Given the description of an element on the screen output the (x, y) to click on. 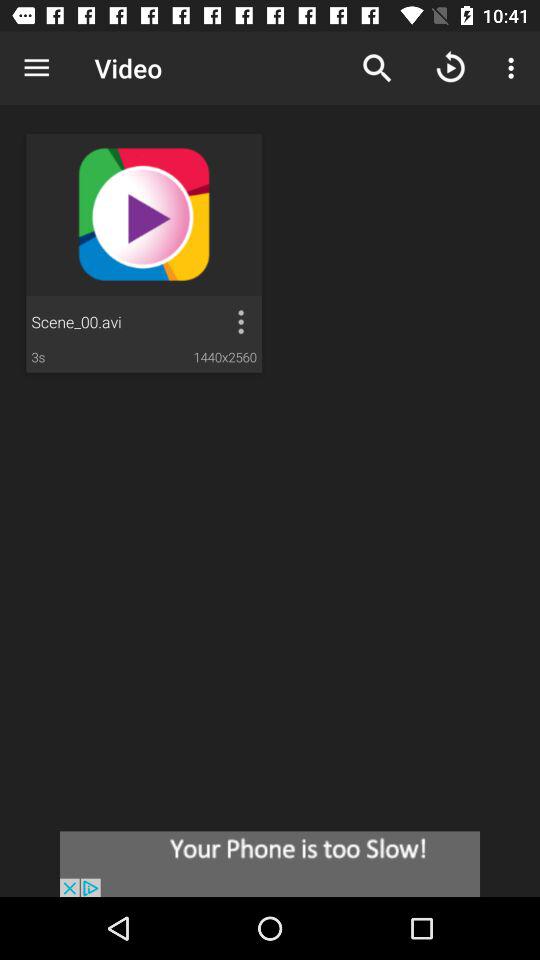
click on the icon right to the refresh button (514, 68)
select the icon which is above the scene00avi option (143, 214)
click on the search option (377, 68)
go to video just below text video (143, 253)
